Given the description of an element on the screen output the (x, y) to click on. 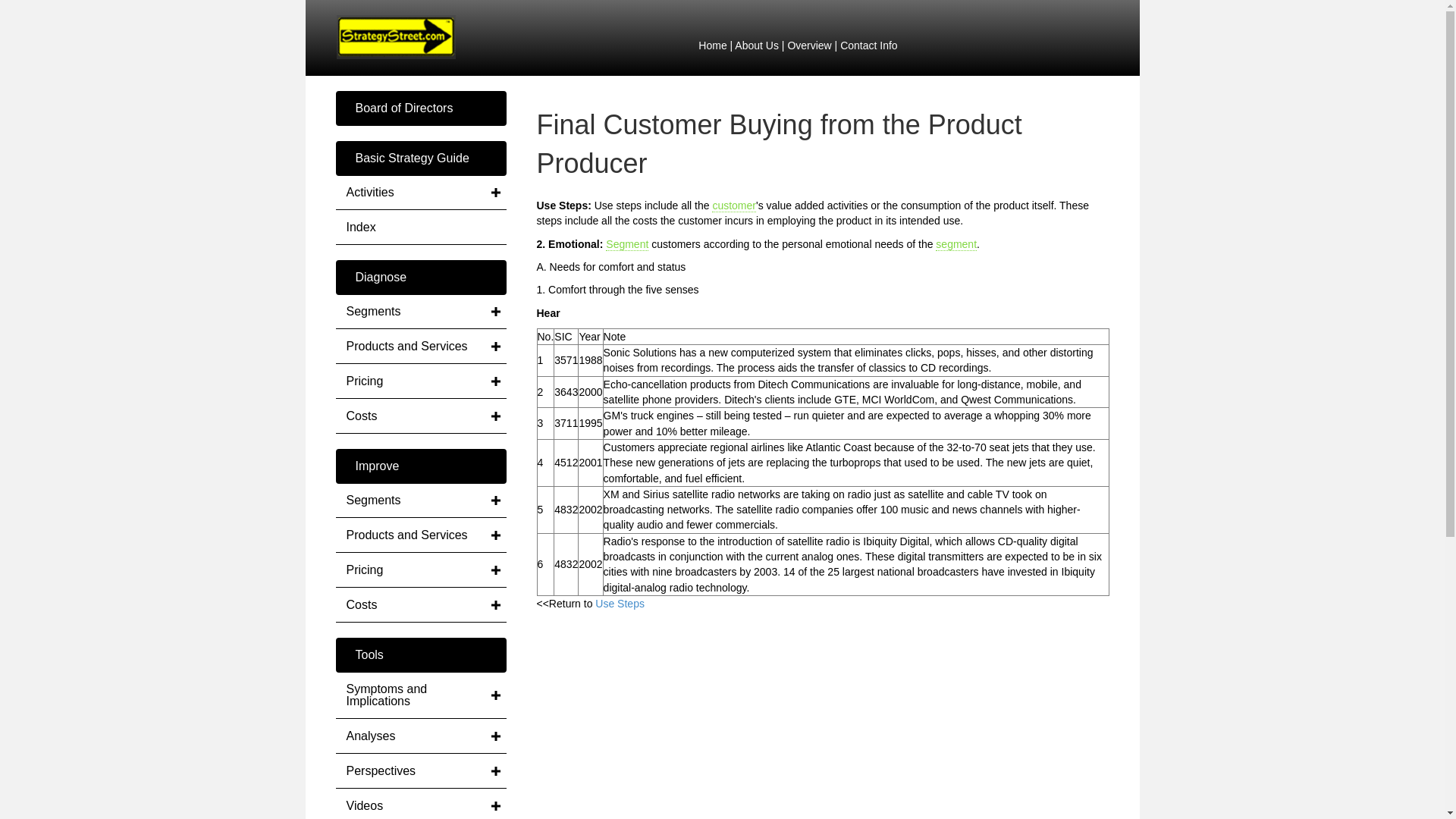
Diagnose (419, 277)
Home (712, 45)
Overview (809, 45)
Segments (419, 311)
Basic Strategy Guide (419, 158)
Segments (419, 500)
Board of Directors (419, 108)
Activities (419, 192)
Contact Info (869, 45)
About Us (756, 45)
Pricing (419, 381)
Index (419, 227)
Improve (419, 466)
Costs (419, 416)
Products and Services (419, 346)
